Given the description of an element on the screen output the (x, y) to click on. 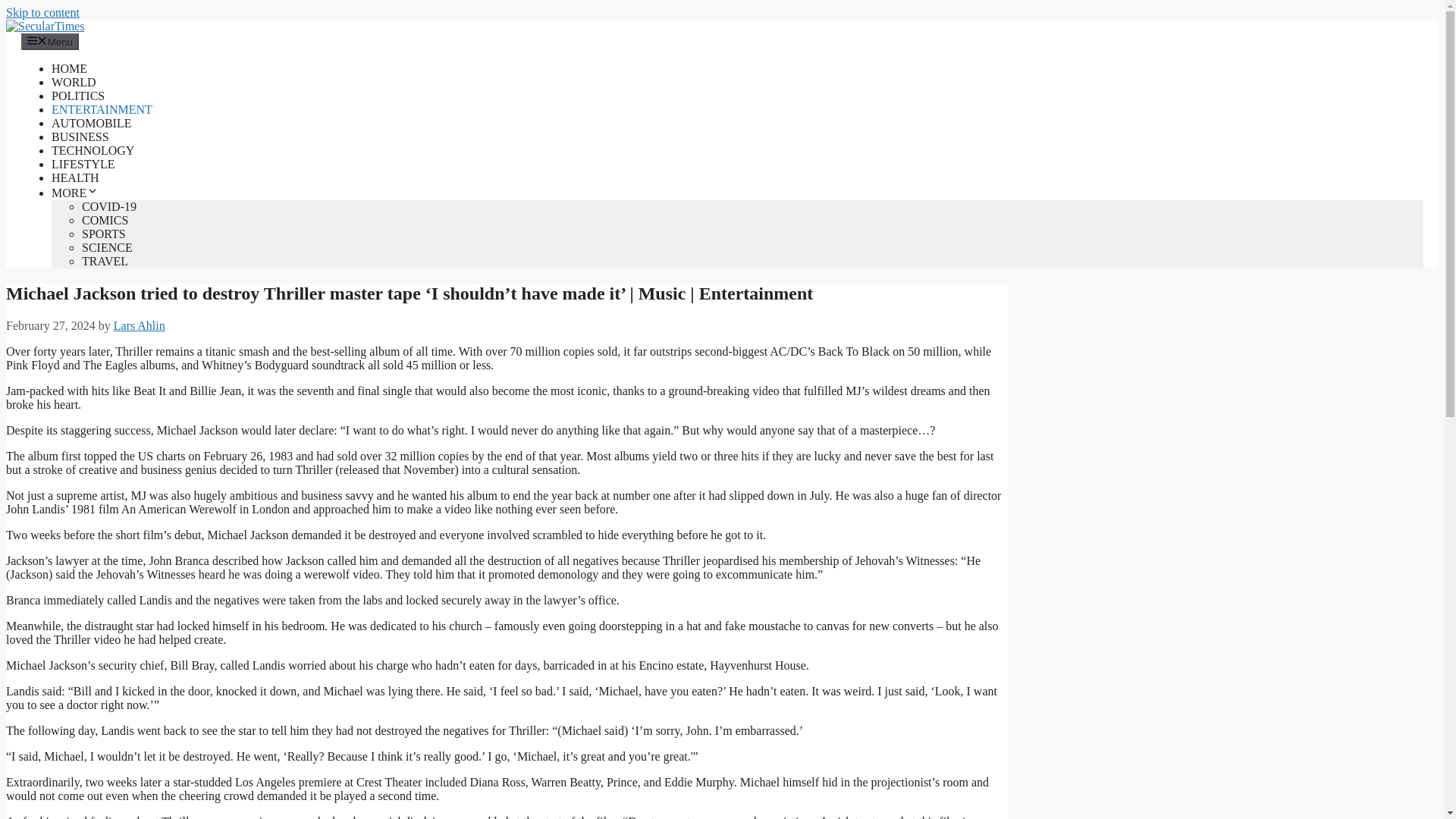
SPORTS (103, 233)
View all posts by Lars Ahlin (139, 325)
HEALTH (74, 177)
ENTERTAINMENT (101, 109)
Menu (49, 41)
SCIENCE (106, 246)
BUSINESS (79, 136)
POLITICS (77, 95)
Skip to content (42, 11)
WORLD (73, 82)
